Given the description of an element on the screen output the (x, y) to click on. 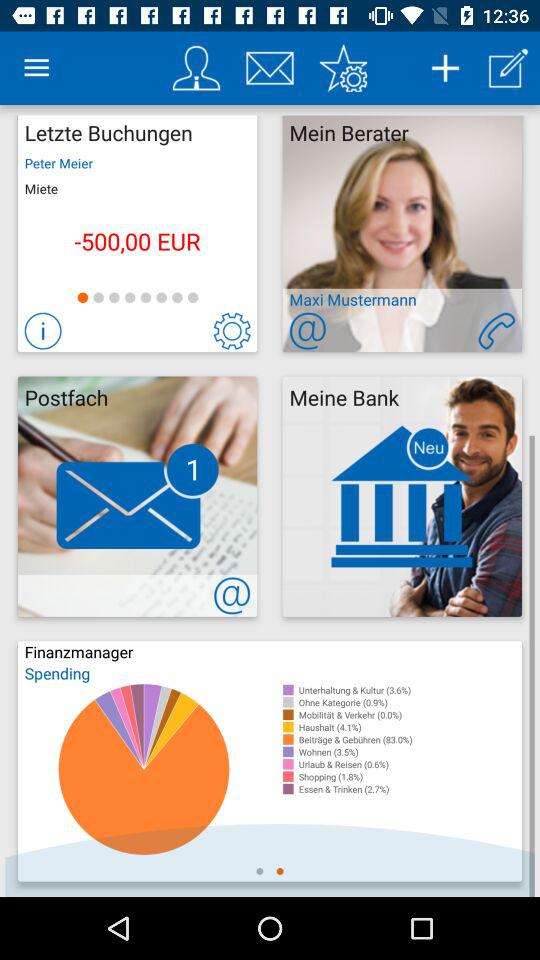
more info (42, 330)
